Given the description of an element on the screen output the (x, y) to click on. 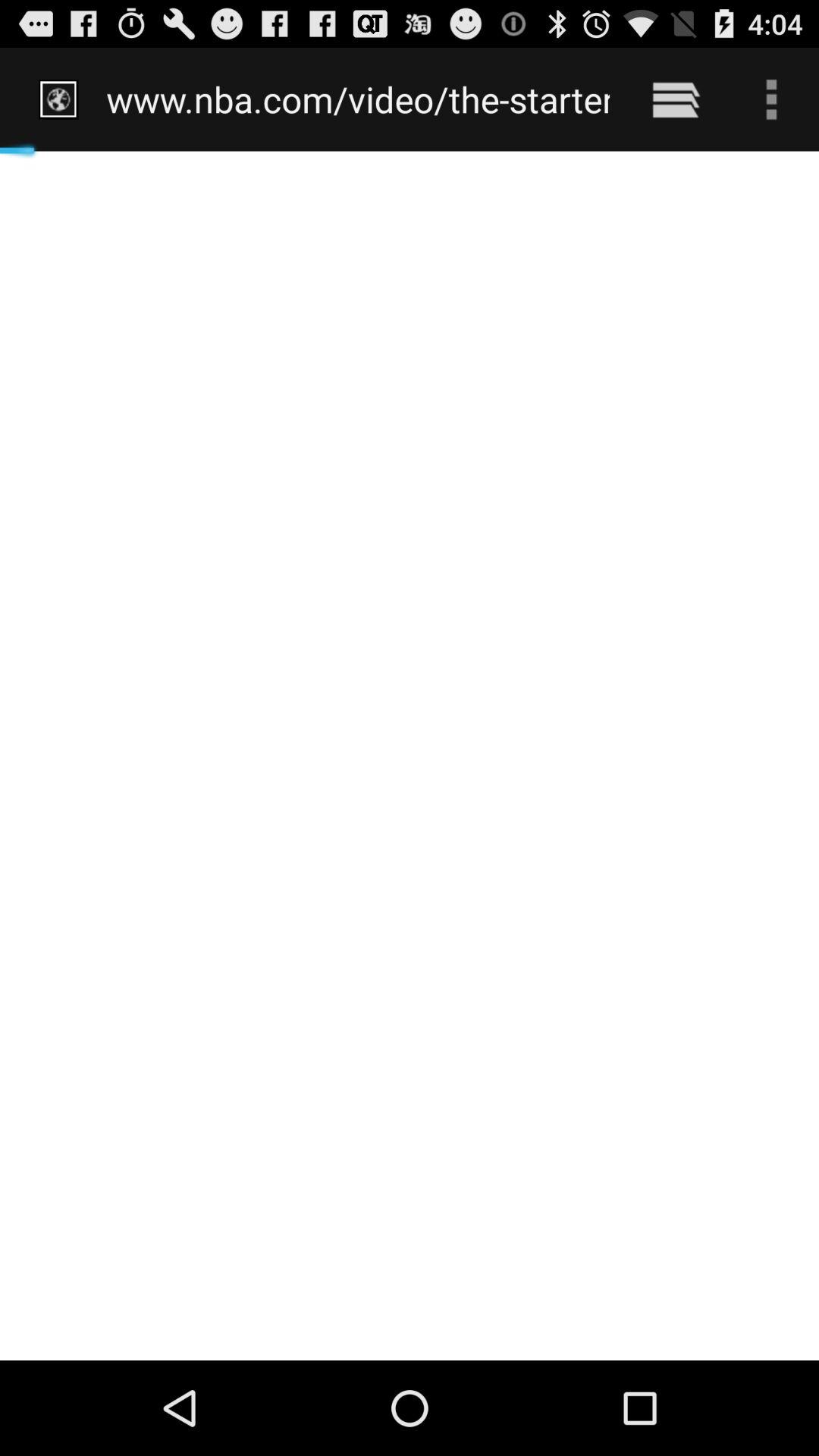
tap the item next to the www nba com icon (675, 99)
